Given the description of an element on the screen output the (x, y) to click on. 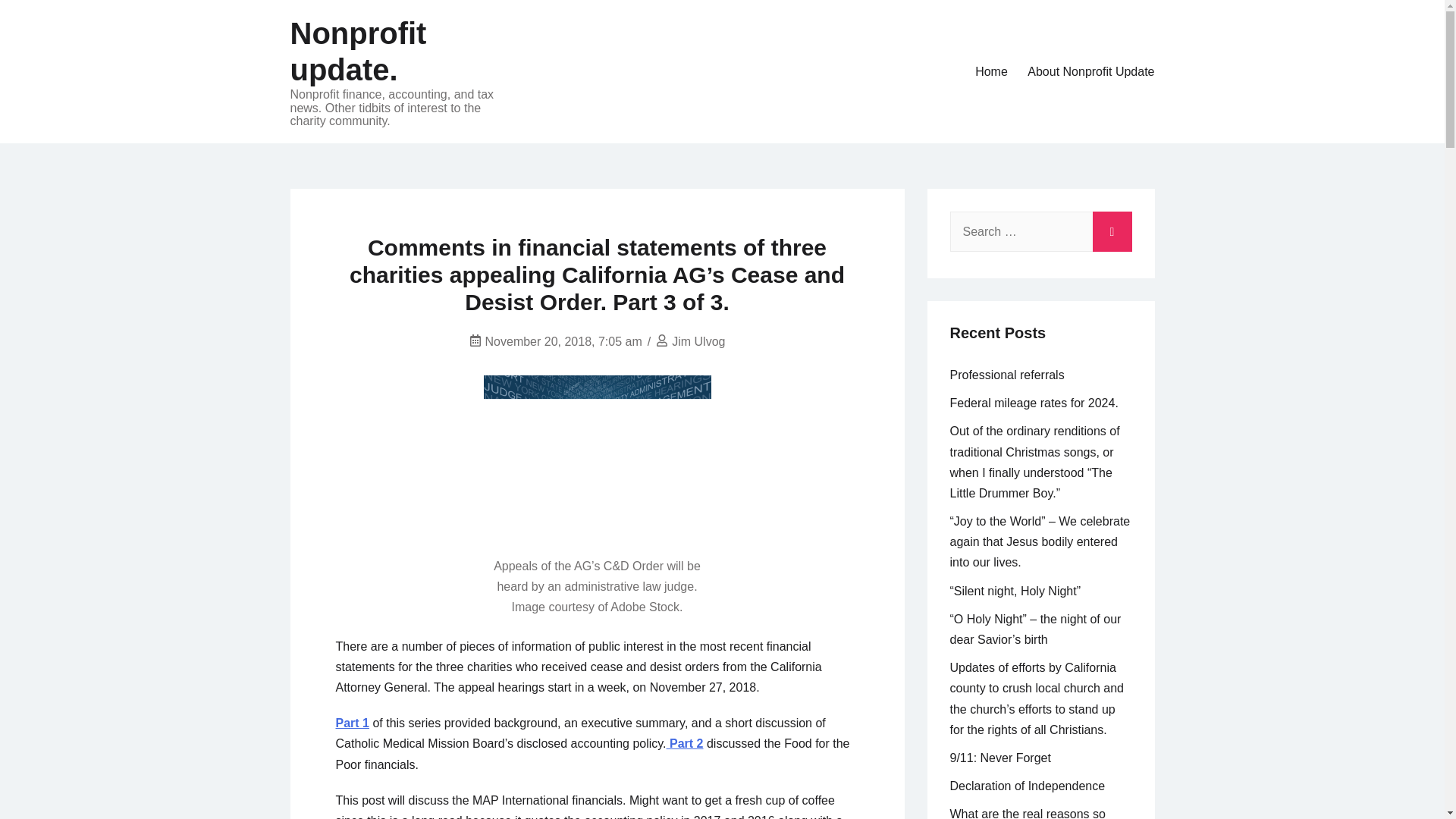
Jim Ulvog (698, 341)
Professional referrals (1006, 374)
Home (991, 71)
Federal mileage rates for 2024. (1033, 402)
Search (1111, 227)
Search (1111, 227)
Part 1 (351, 722)
Declaration of Independence (1027, 785)
November 20, 2018, 7:05 am (563, 341)
Part 2 (684, 743)
About Nonprofit Update (1090, 71)
Nonprofit update. (357, 51)
Search (1111, 227)
